Given the description of an element on the screen output the (x, y) to click on. 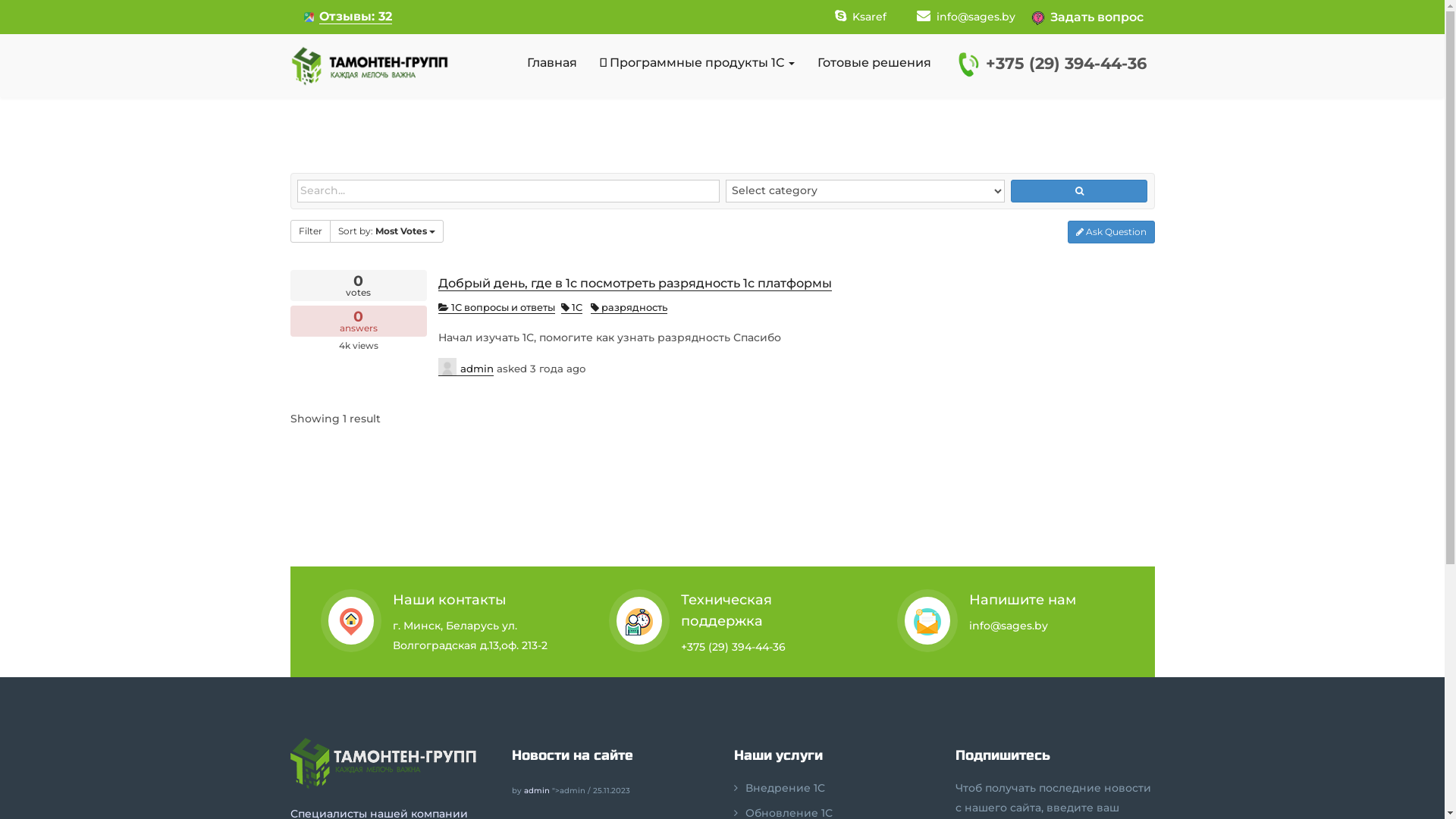
info@sages.by Element type: text (965, 16)
Ksaref Element type: text (859, 16)
Ask Question Element type: text (1110, 231)
admin Element type: text (465, 366)
Sort by: Most Votes Element type: text (385, 230)
Filter Element type: text (309, 230)
admin Element type: text (536, 790)
